Given the description of an element on the screen output the (x, y) to click on. 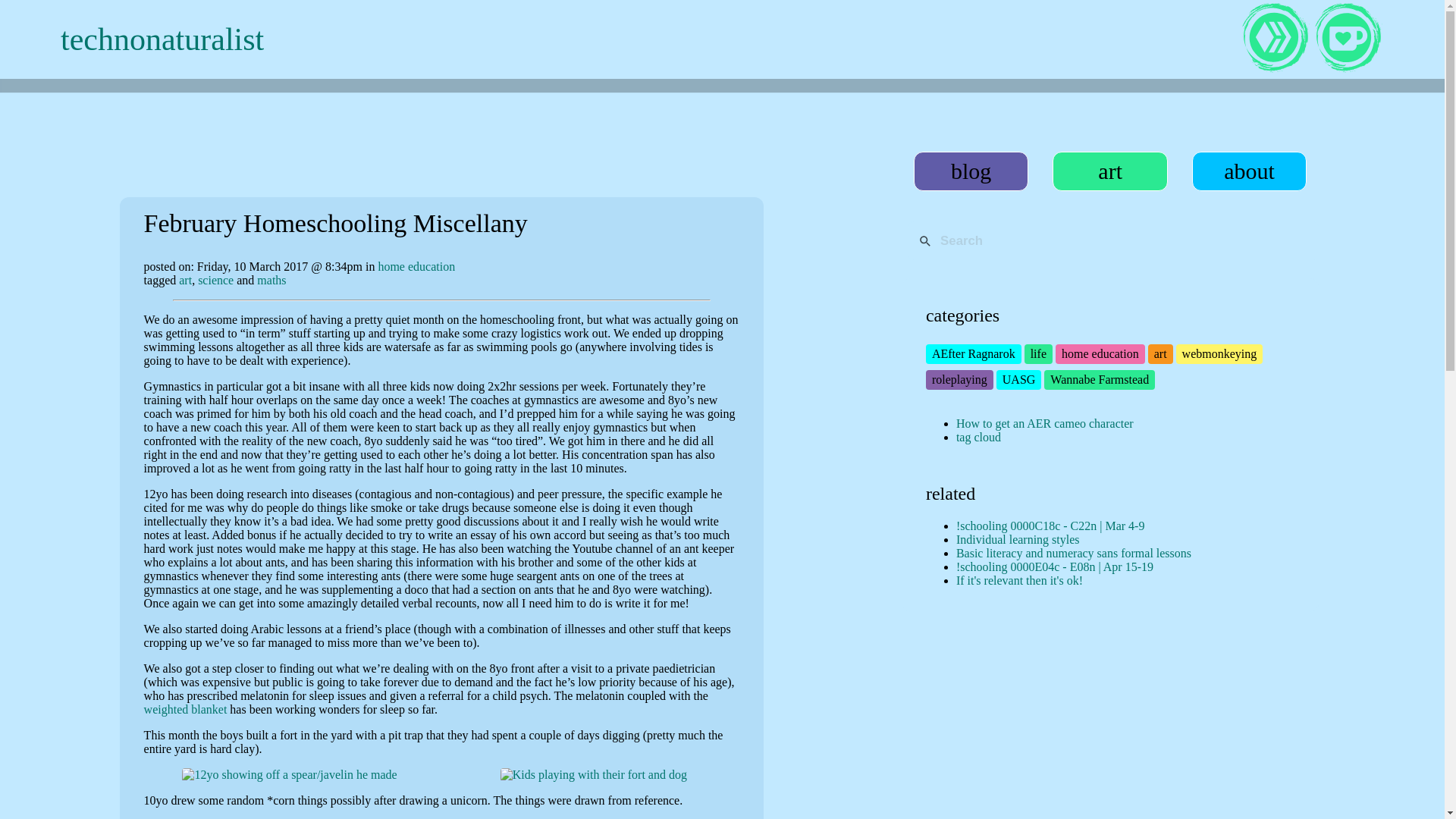
Wannabe Farmstead (1098, 379)
art (1160, 353)
see my hive profile on my favourite front end (1275, 38)
maths (271, 279)
science (215, 279)
home education (415, 266)
life (1038, 353)
art (185, 279)
art (1109, 170)
blog (970, 170)
